Given the description of an element on the screen output the (x, y) to click on. 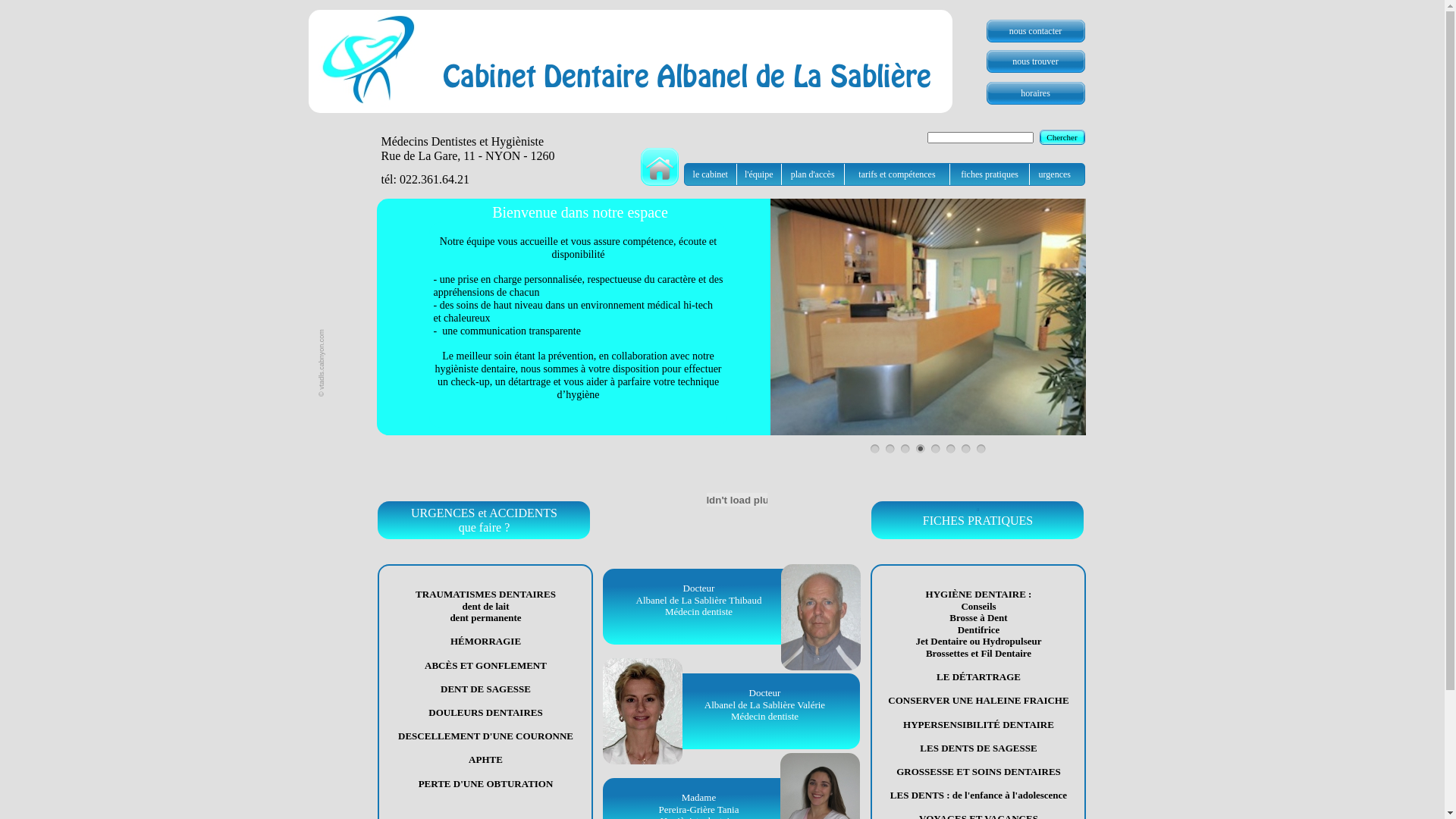
nous contacter Element type: text (1034, 30)
horaires Element type: text (1034, 92)
ABOUT US Element type: text (792, 37)
urgences Element type: text (1054, 173)
  Element type: text (308, 6)
nous trouver Element type: text (1034, 61)
fiches pratiques Element type: text (989, 174)
Chercher Element type: text (1061, 136)
nous contacter Element type: text (1035, 30)
le cabinet Element type: text (710, 174)
urgences Element type: text (1054, 174)
le cabinet Element type: text (710, 173)
nous trouver Element type: text (1034, 61)
horaires Element type: text (1035, 92)
fiches pratiques Element type: text (989, 173)
Chercher Element type: text (1061, 136)
HOME Element type: text (651, 37)
ABOUT US Element type: text (792, 36)
HOME Element type: text (651, 36)
